Given the description of an element on the screen output the (x, y) to click on. 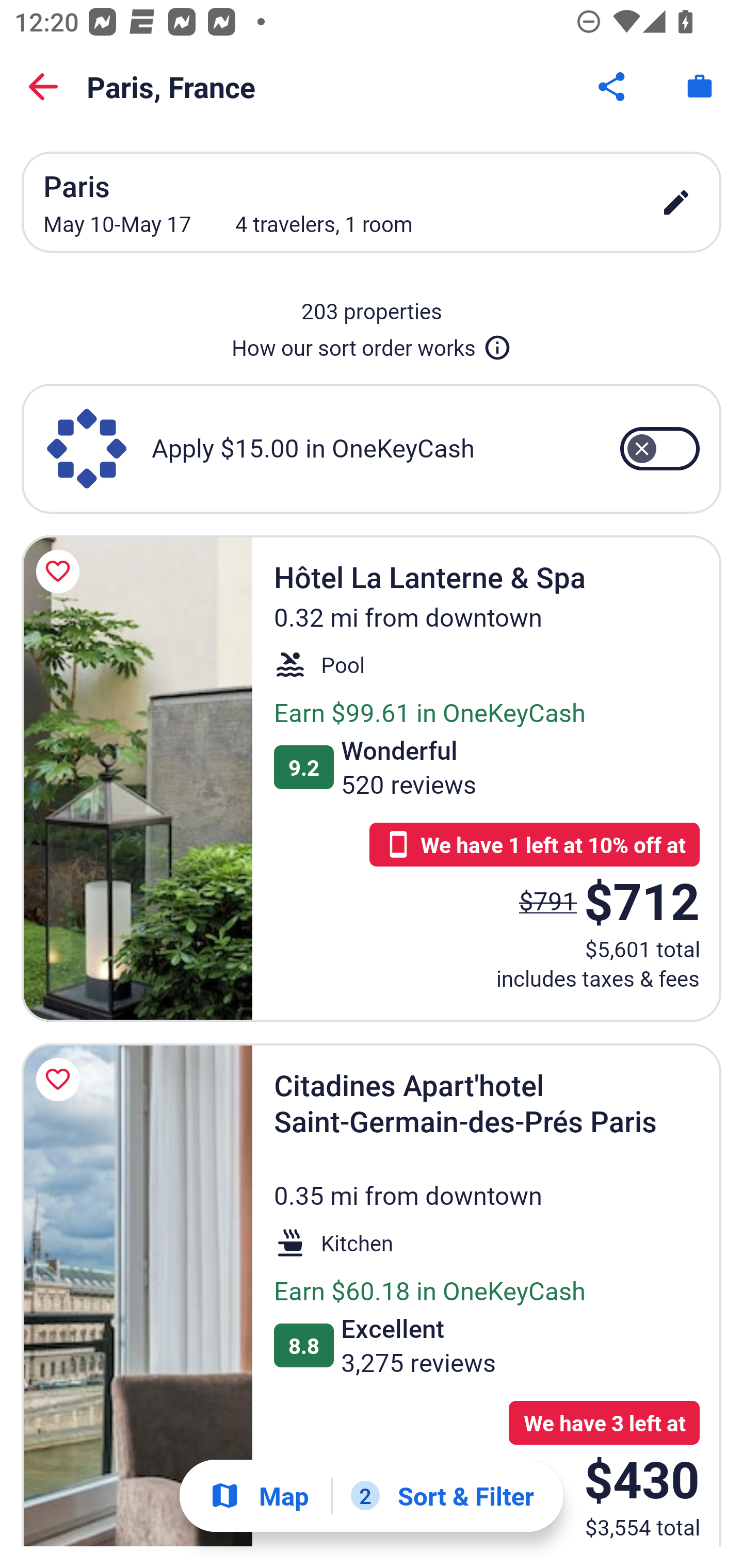
Back (43, 86)
Share Button (612, 86)
Trips. Button (699, 86)
Paris May 10-May 17 4 travelers, 1 room edit (371, 202)
How our sort order works (371, 344)
Save Hôtel La Lanterne & Spa to a trip (61, 571)
Hôtel La Lanterne & Spa (136, 778)
$791 The price was $791 (547, 900)
Citadines Apart'hotel Saint-Germain-des-Prés Paris (136, 1294)
2 Sort & Filter 2 Filters applied. Filters Button (442, 1495)
Show map Map Show map Button (258, 1495)
